Given the description of an element on the screen output the (x, y) to click on. 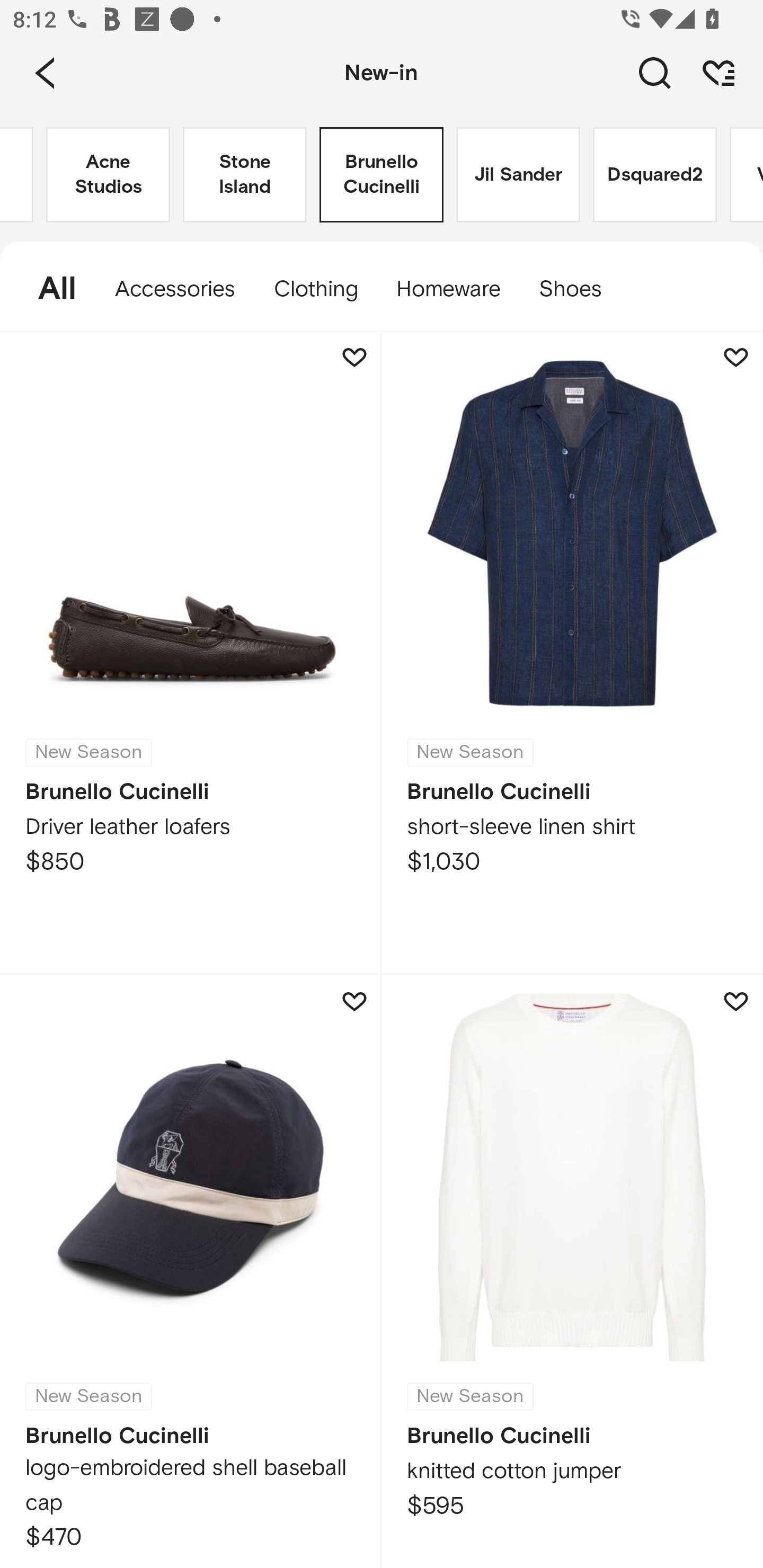
Acne Studios (107, 174)
Stone Island (244, 174)
Brunello Cucinelli (381, 174)
Jil Sander (517, 174)
Dsquared2 (654, 174)
All (47, 288)
Accessories (174, 288)
Clothing (315, 288)
Homeware (447, 288)
Shoes (579, 288)
